Given the description of an element on the screen output the (x, y) to click on. 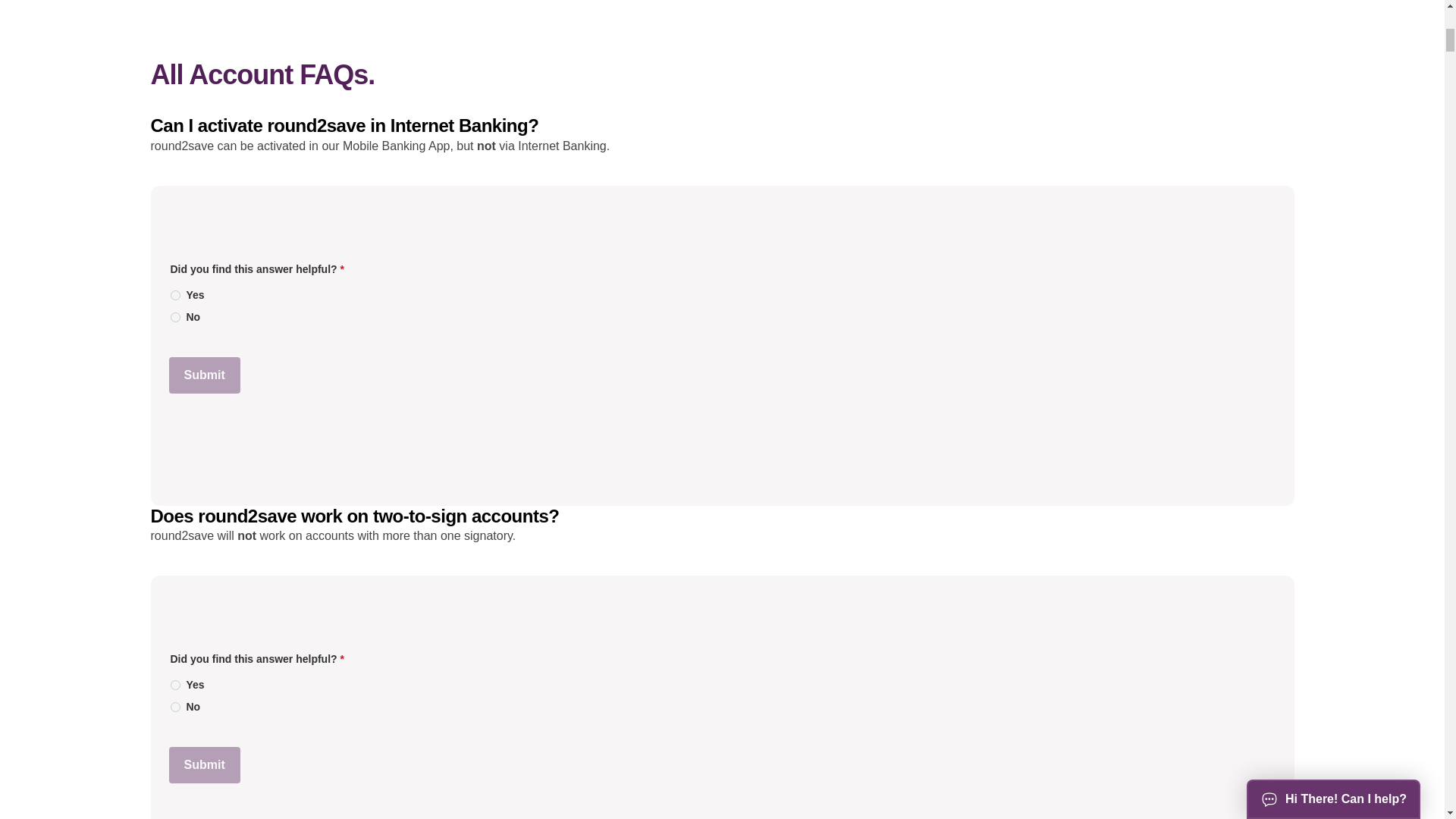
Yes (174, 685)
No (174, 706)
No (174, 317)
Yes (174, 295)
